Given the description of an element on the screen output the (x, y) to click on. 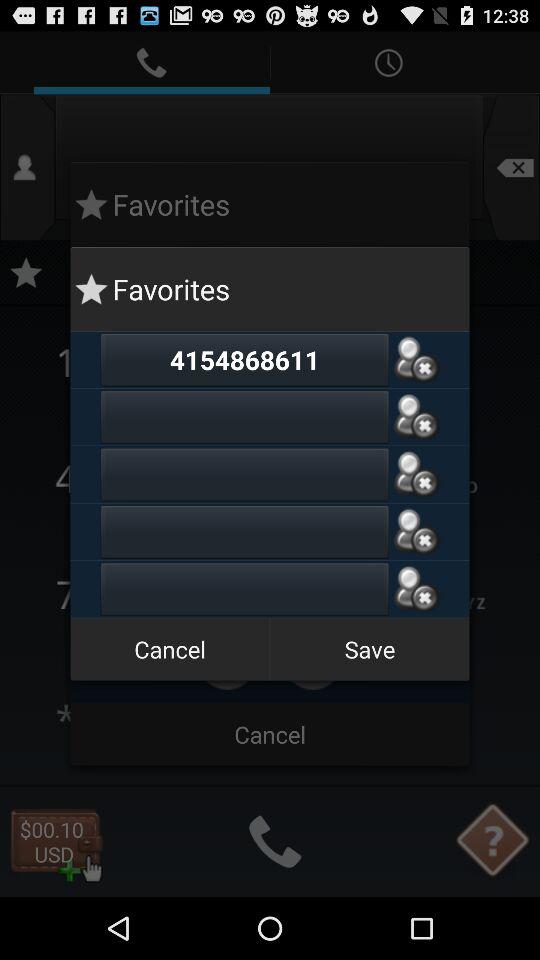
delete favorite (416, 531)
